Given the description of an element on the screen output the (x, y) to click on. 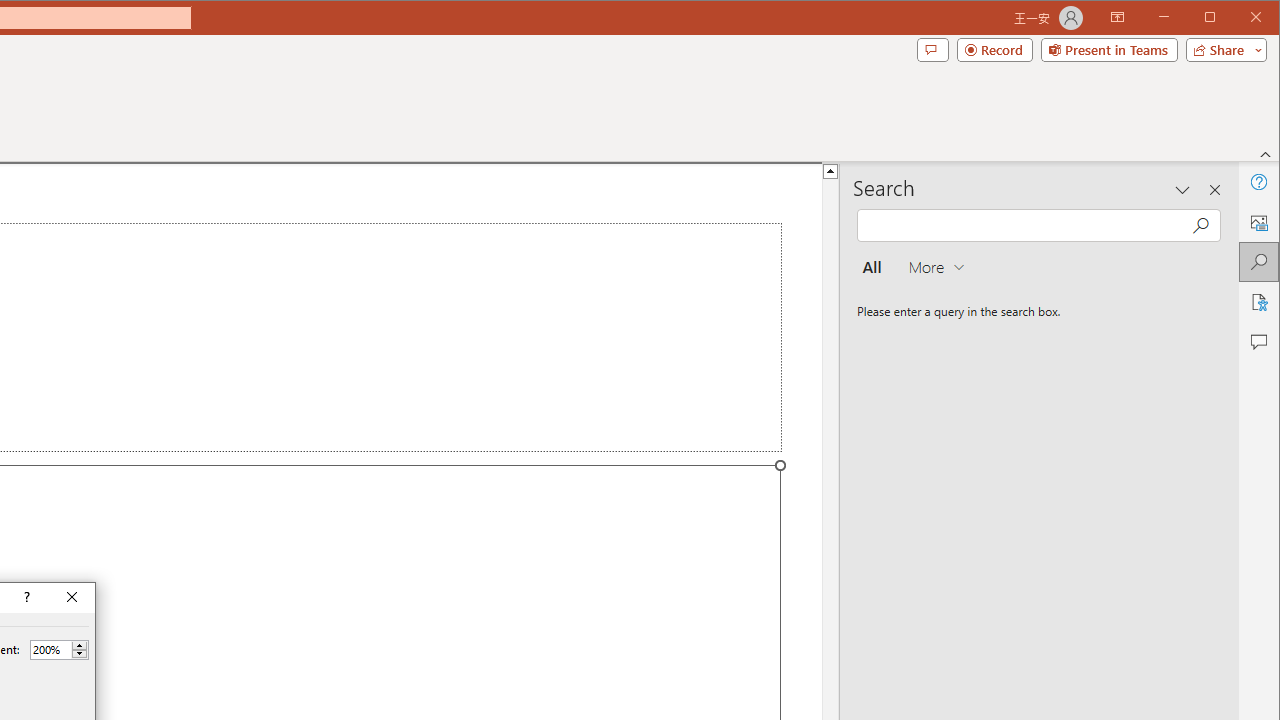
Percent (50, 649)
